Given the description of an element on the screen output the (x, y) to click on. 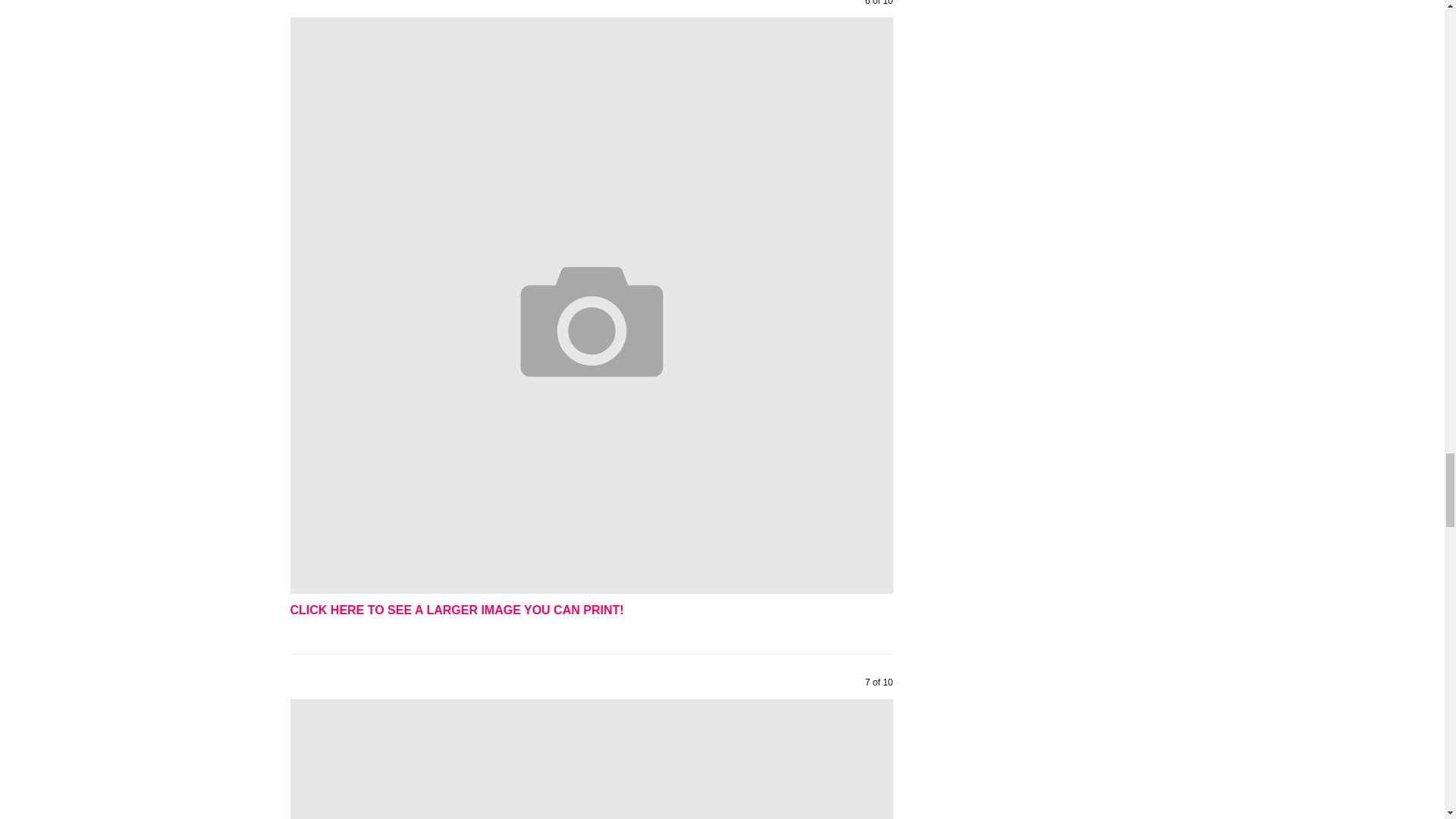
CLICK HERE TO SEE A LARGER IMAGE YOU CAN PRINT! (456, 609)
